Given the description of an element on the screen output the (x, y) to click on. 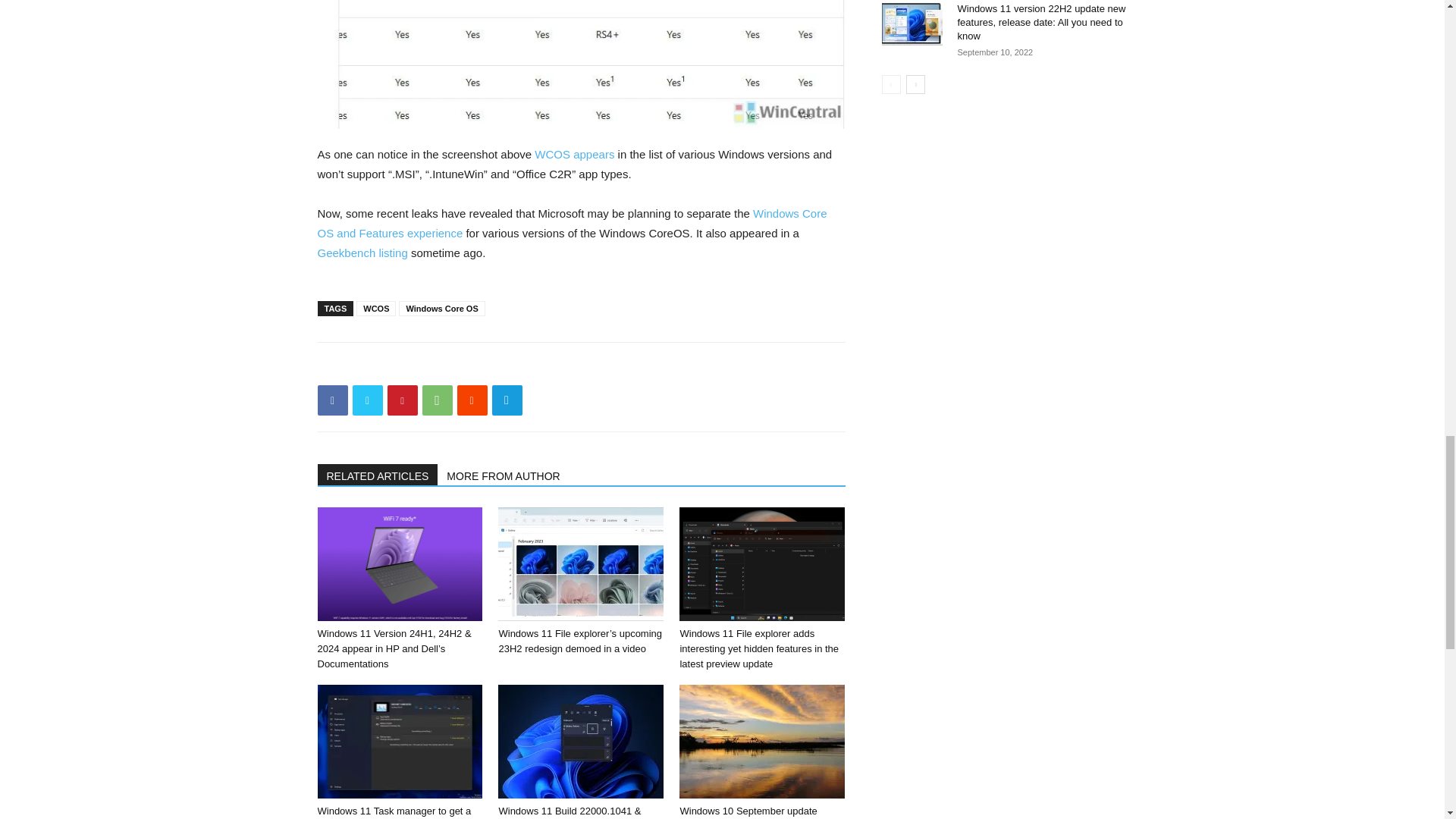
Twitter (366, 399)
WCOS appears (574, 154)
Pinterest (401, 399)
bottomFacebookLike (430, 366)
Facebook (332, 399)
Windows Core OS and Features experience (572, 223)
Geekbench listing (362, 252)
